Given the description of an element on the screen output the (x, y) to click on. 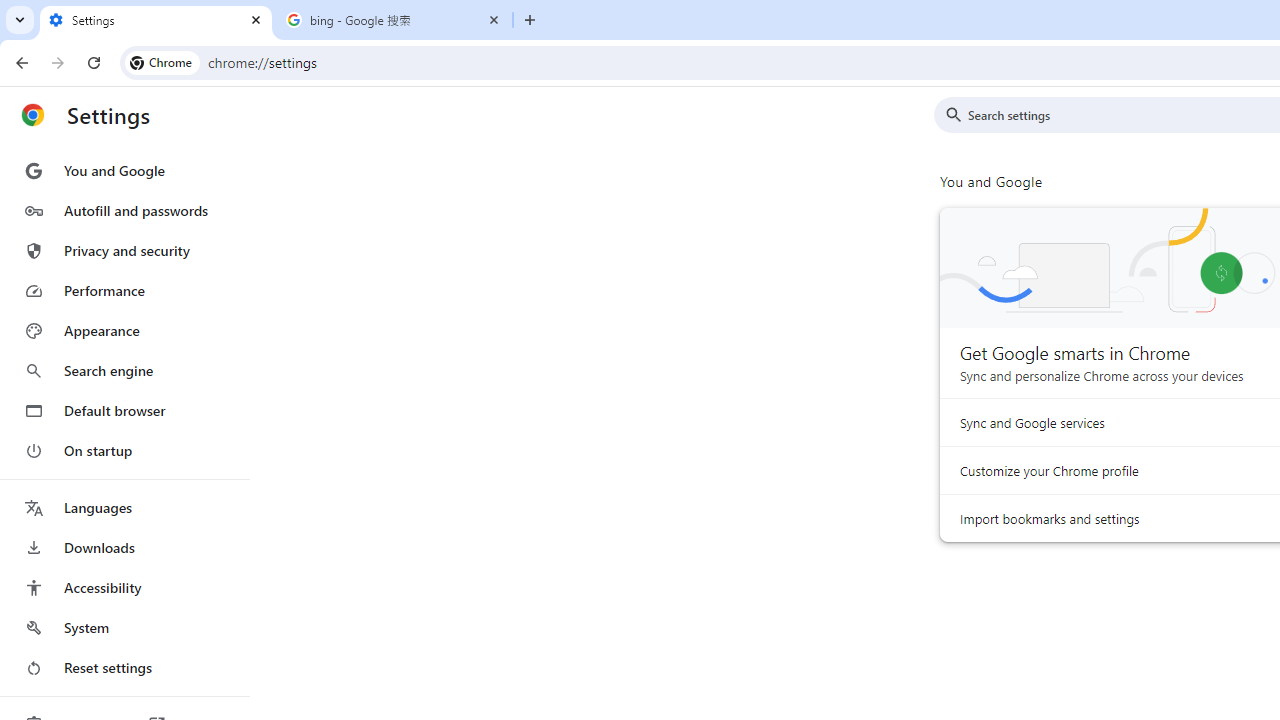
Languages (124, 507)
Default browser (124, 410)
Privacy and security (124, 250)
Settings (156, 20)
Downloads (124, 547)
You and Google (124, 170)
Accessibility (124, 587)
Appearance (124, 331)
On startup (124, 450)
Autofill and passwords (124, 210)
Search engine (124, 370)
Performance (124, 290)
